Given the description of an element on the screen output the (x, y) to click on. 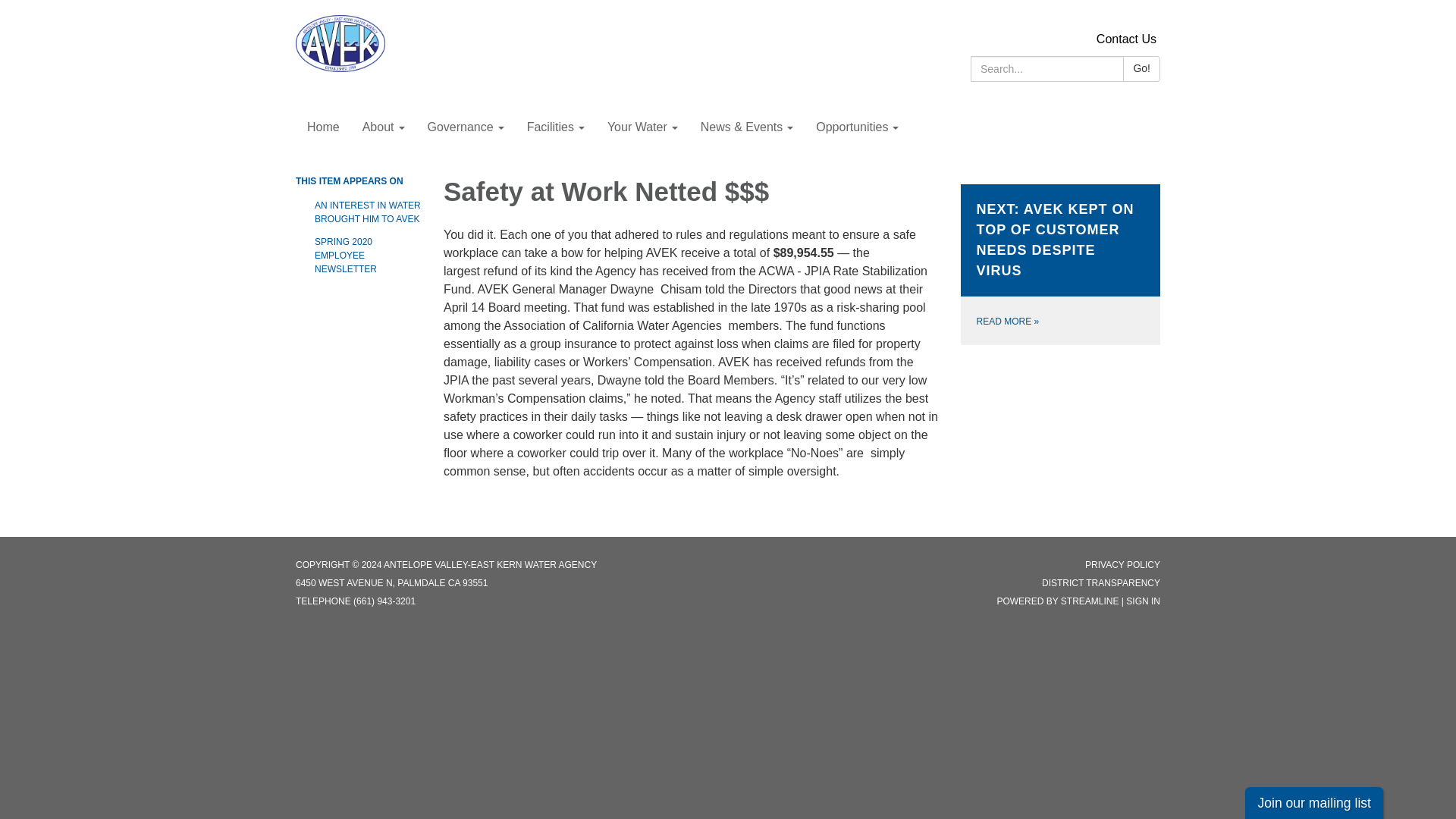
Streamline: Technology for Special Districts (1090, 601)
Go! (1141, 68)
Contact Us (1125, 38)
Home (322, 127)
Governance (464, 127)
Your Water (641, 127)
Special District Transparency Report (1101, 583)
About (383, 127)
Facilities (555, 127)
